Given the description of an element on the screen output the (x, y) to click on. 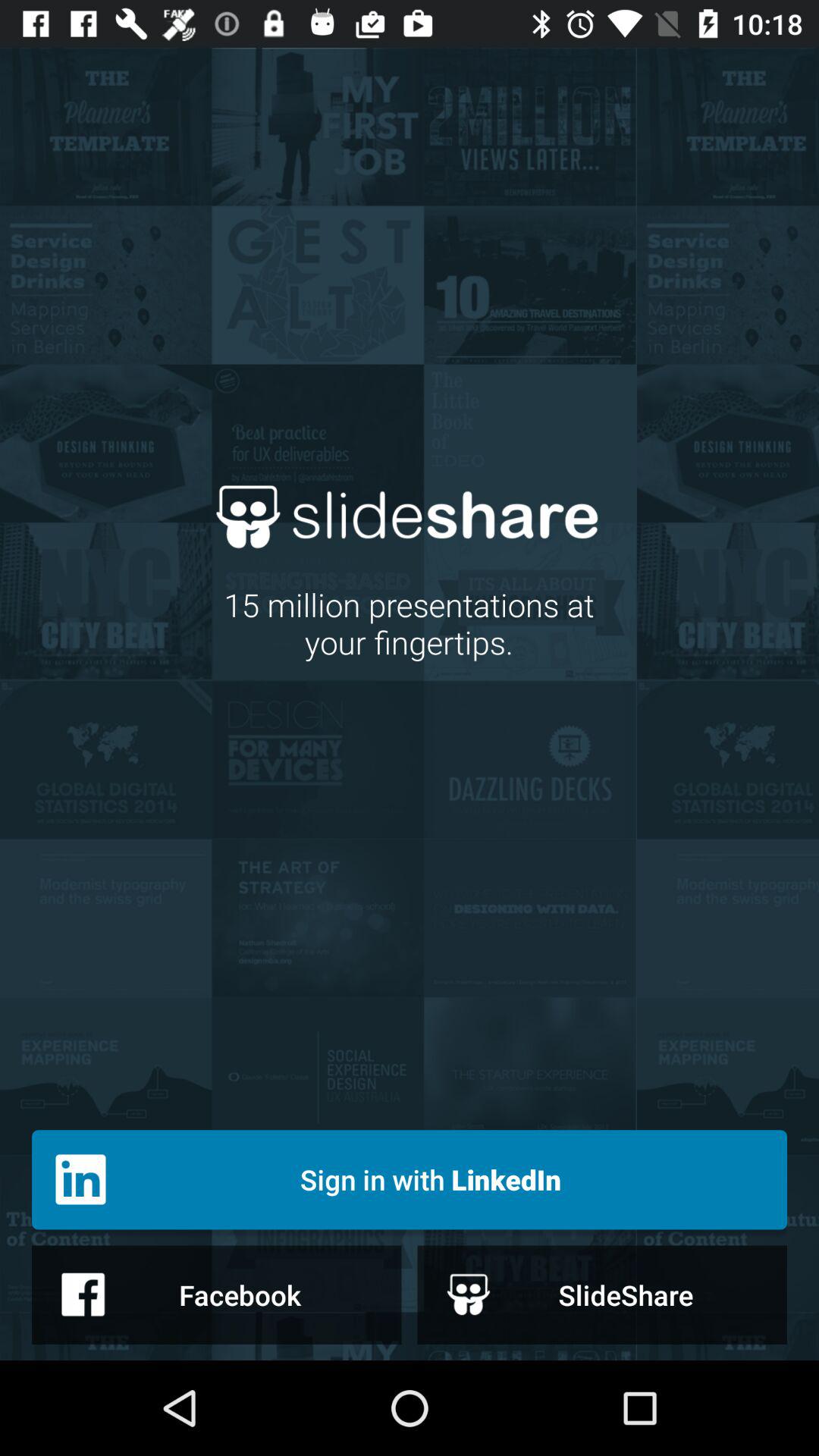
select the icon to the right of the facebook (602, 1294)
